Given the description of an element on the screen output the (x, y) to click on. 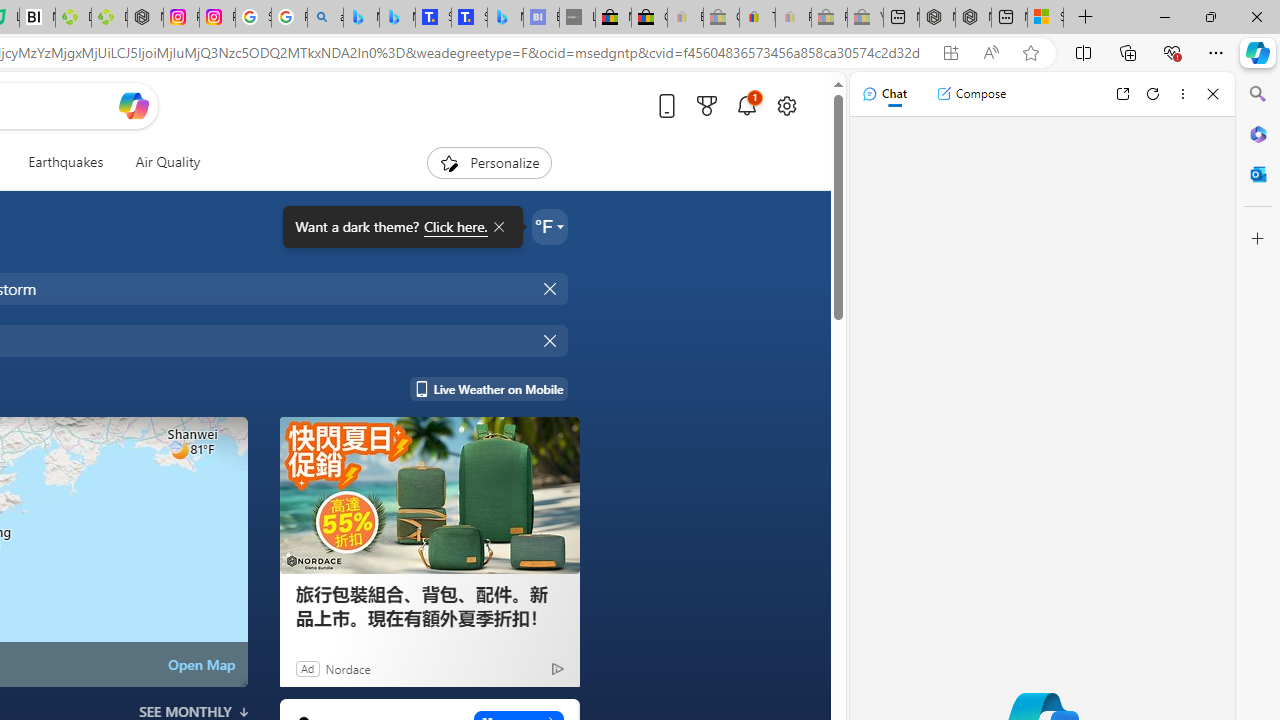
Nordace - Summer Adventures 2024 (973, 17)
Sign in to your Microsoft account (1045, 17)
Notifications (746, 105)
Threats and offensive language policy | eBay (756, 17)
Air Quality (167, 162)
Class: BubbleMessageCloseIcon-DS-EntryPoint1-1 (497, 227)
App available. Install Microsoft Start Weather (950, 53)
Open Map (201, 664)
